Given the description of an element on the screen output the (x, y) to click on. 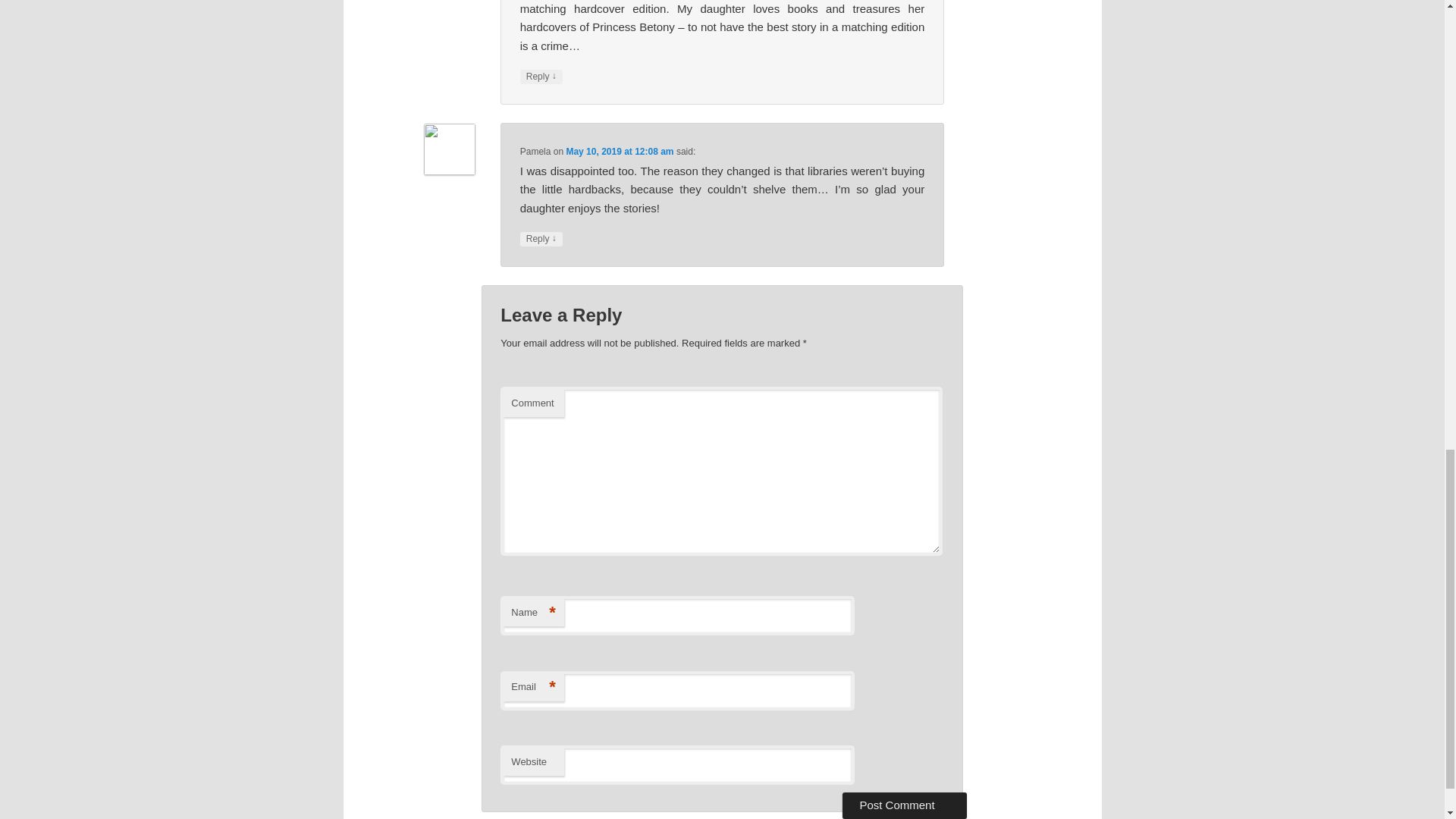
Post Comment (904, 805)
Post Comment (904, 805)
May 10, 2019 at 12:08 am (619, 151)
